Given the description of an element on the screen output the (x, y) to click on. 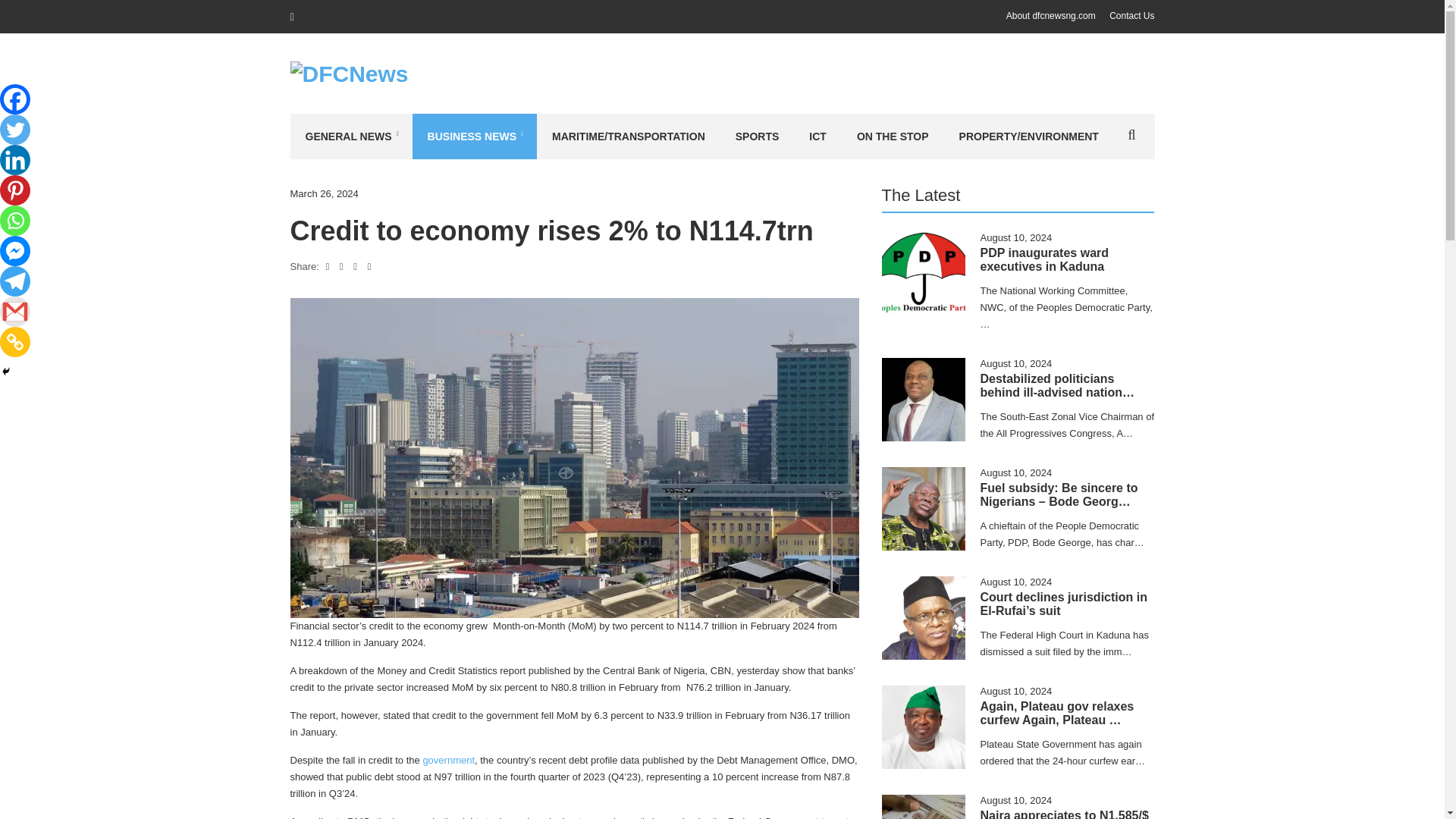
Telegram (15, 281)
Whatsapp (15, 220)
Hide (5, 371)
GENERAL NEWS (350, 135)
Twitter (15, 129)
Google Gmail (15, 311)
About dfcnewsng.com (1051, 15)
Copy Link (15, 341)
Pinterest (15, 190)
Linkedin (15, 159)
